Given the description of an element on the screen output the (x, y) to click on. 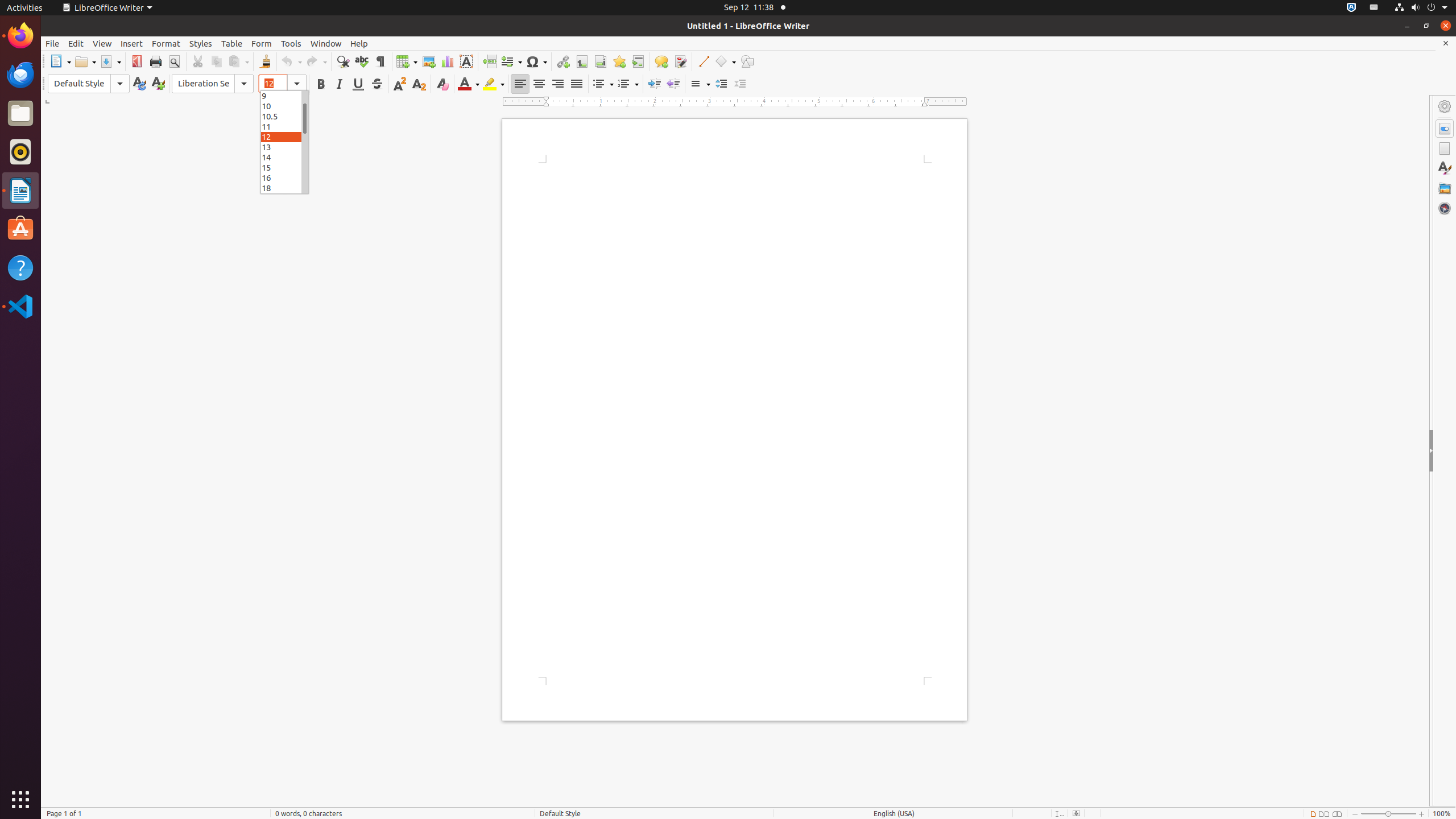
Styles Element type: menu (200, 43)
